Given the description of an element on the screen output the (x, y) to click on. 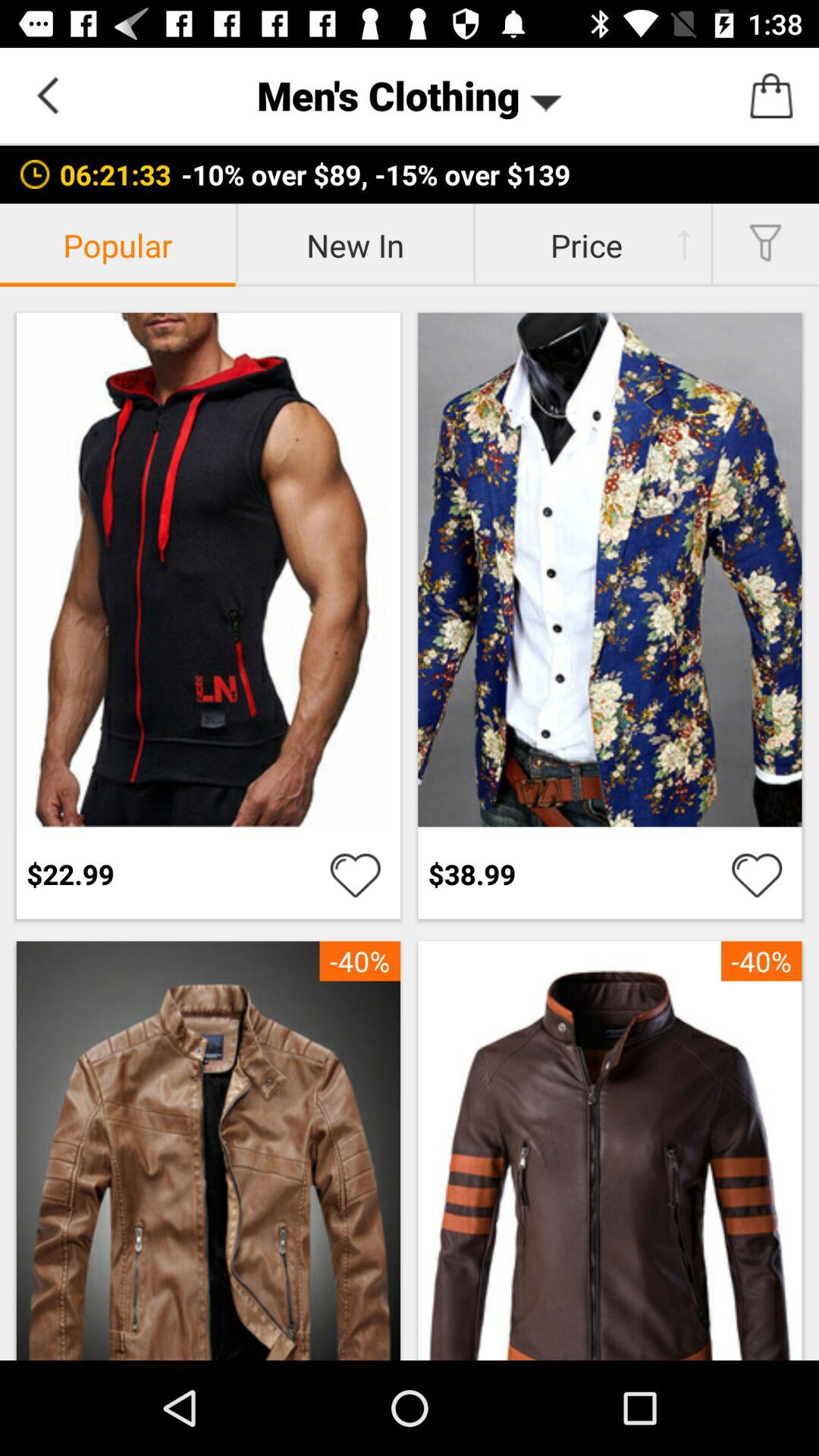
favorite this (355, 874)
